Given the description of an element on the screen output the (x, y) to click on. 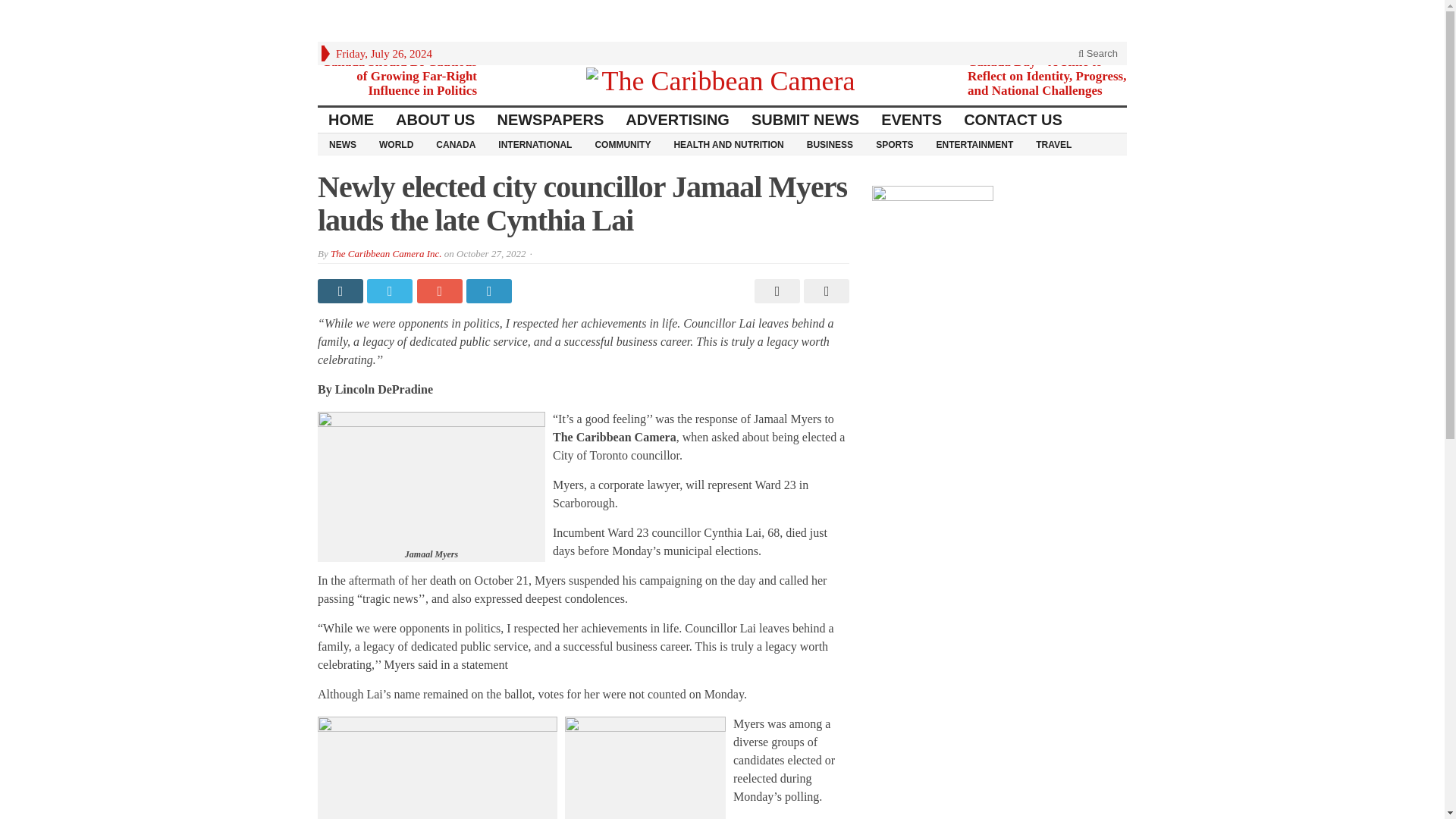
HOME (351, 119)
Share on Twitter (391, 291)
NEWSPAPERS (550, 119)
NEWS (342, 143)
Send by Email (823, 291)
Print This Post (775, 291)
WORLD (396, 143)
Share on Facebook (341, 291)
Share on LinkedIn (490, 291)
CANADA (455, 143)
Search (1097, 53)
EVENTS (911, 119)
ABOUT US (435, 119)
ADVERTISING (677, 119)
SUBMIT NEWS (805, 119)
